Given the description of an element on the screen output the (x, y) to click on. 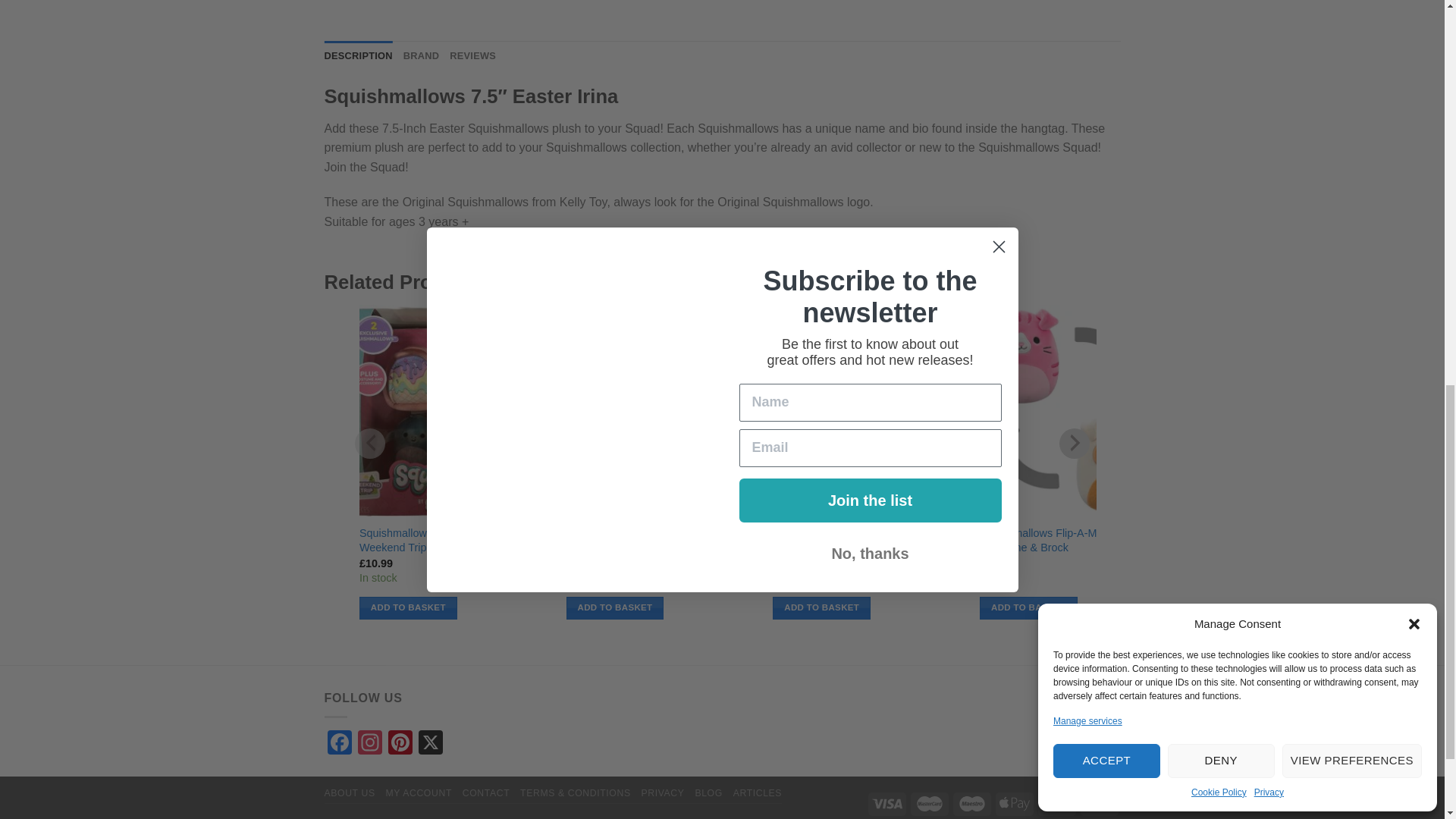
Minimum qty is 1 (408, 608)
